Given the description of an element on the screen output the (x, y) to click on. 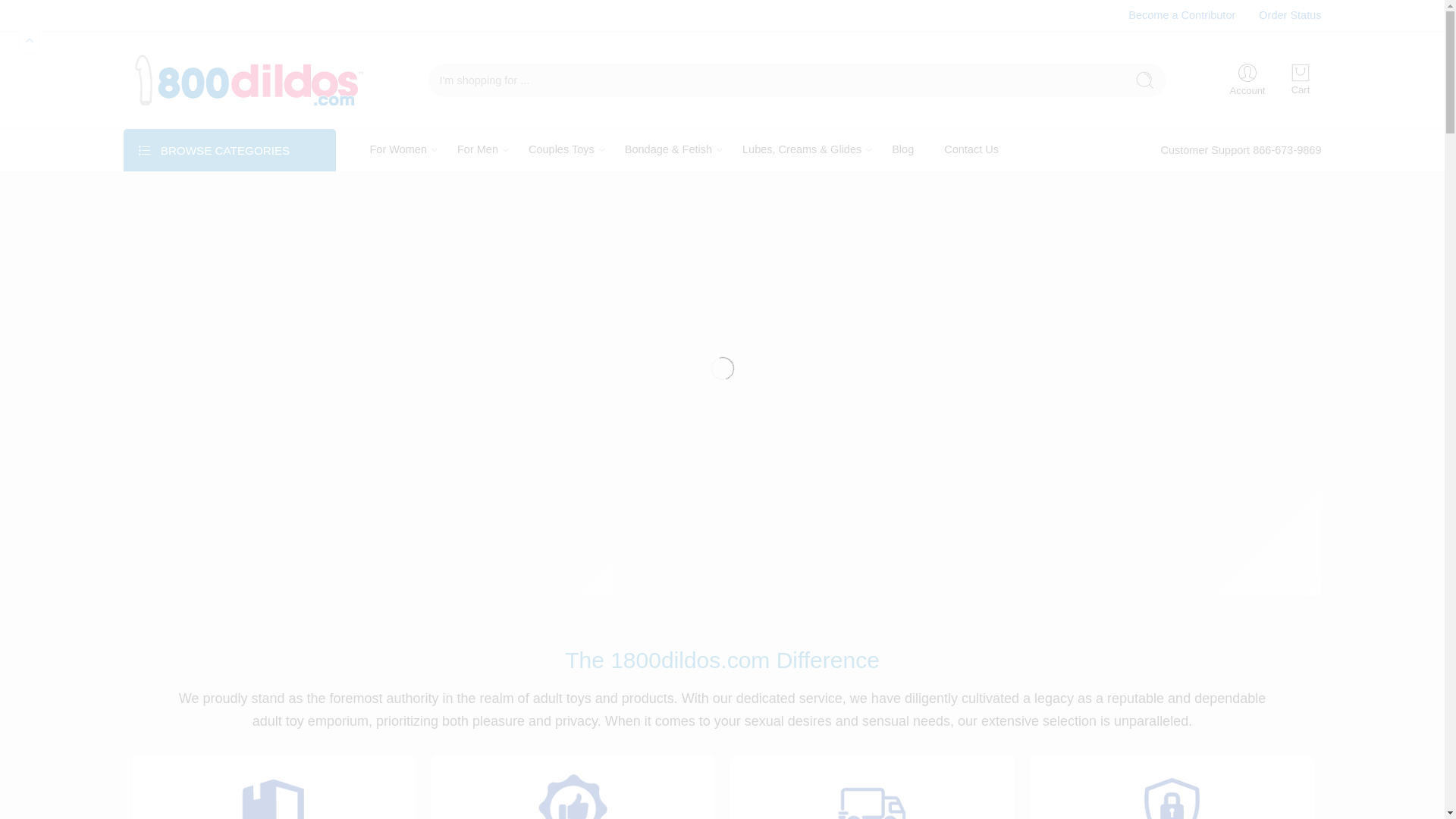
1800Dildos.com 10 Element type: hover (1176, 392)
Couples Toys Element type: text (561, 149)
Lubes, Creams & Glides Element type: text (801, 149)
Cart Element type: text (1300, 80)
Order Status Element type: text (1289, 15)
Contact Us Element type: text (971, 149)
For Men Element type: text (477, 149)
For Women Element type: text (398, 149)
1800dildos.com - Unlocking Pleasure, One Click at a Time Element type: hover (244, 79)
Bondage & Fetish Element type: text (668, 149)
1800Dildos.com 7 Element type: hover (366, 390)
1800Dildos.com 8 Element type: hover (821, 285)
1800Dildos.com 9 Element type: hover (821, 495)
Blog Element type: text (902, 149)
866-673-9869 Element type: text (1286, 150)
Become a Contributor Element type: text (1181, 15)
ONLINE ONLY SALE
DONT LET ED
GET YOU DOWN! Element type: text (821, 495)
Shop Now Element type: text (1101, 329)
Account Element type: text (1247, 79)
